Given the description of an element on the screen output the (x, y) to click on. 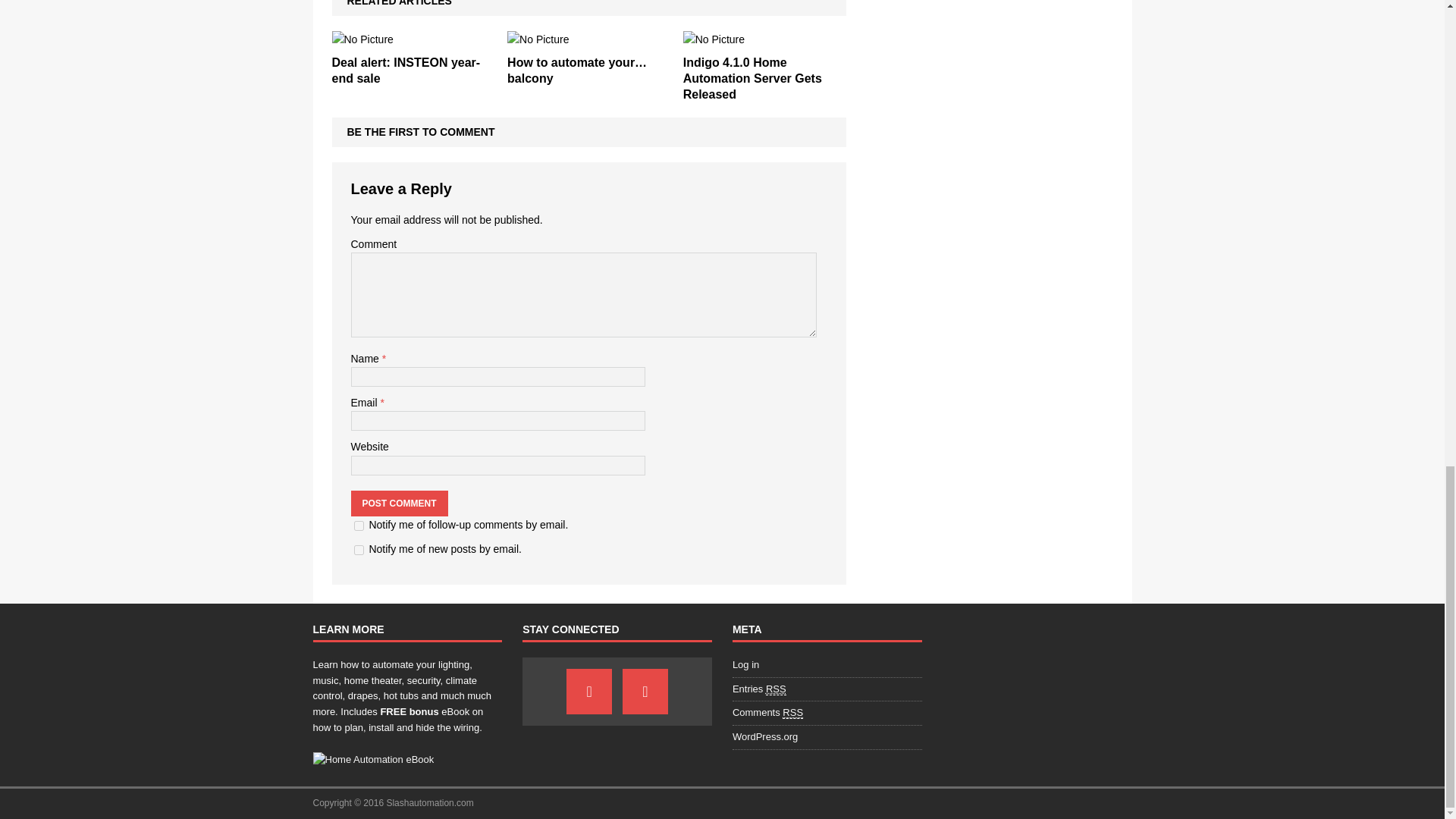
subscribe (357, 550)
subscribe (357, 525)
Post Comment (398, 503)
